Given the description of an element on the screen output the (x, y) to click on. 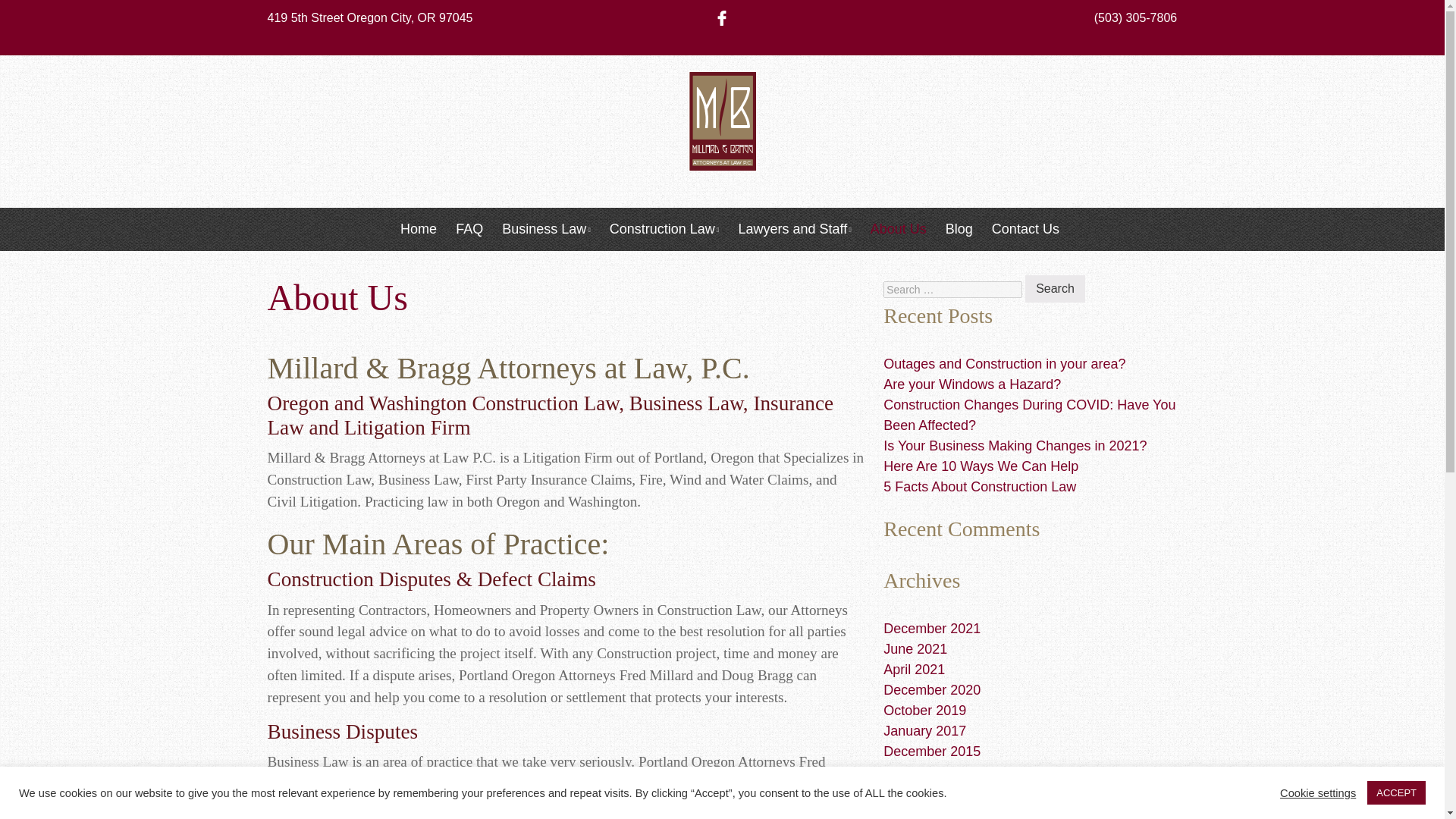
Lawyers and Staff (794, 229)
December 2020 (931, 689)
Search (1054, 288)
FAQ (469, 229)
5 Facts About Construction Law (979, 486)
Business Law (546, 229)
Search (1054, 288)
December 2021 (931, 628)
October 2014 (924, 792)
August 2014 (921, 812)
June 2021 (915, 648)
January 2017 (924, 730)
December 2015 (931, 751)
Blog (958, 229)
